Given the description of an element on the screen output the (x, y) to click on. 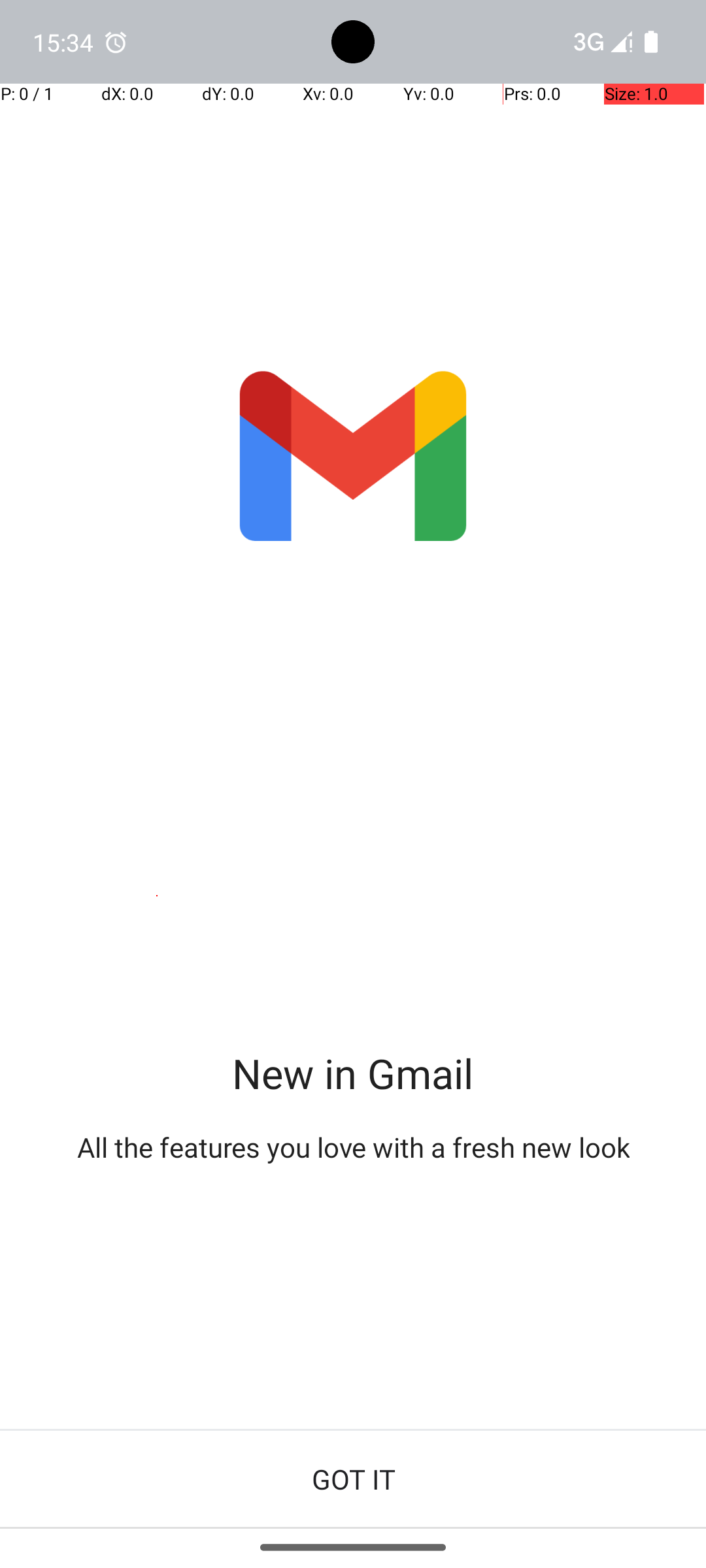
GOT IT Element type: android.widget.TextView (353, 1478)
New in Gmail Element type: android.widget.TextView (352, 1072)
All the features you love with a fresh new look Element type: android.widget.TextView (352, 1146)
